Given the description of an element on the screen output the (x, y) to click on. 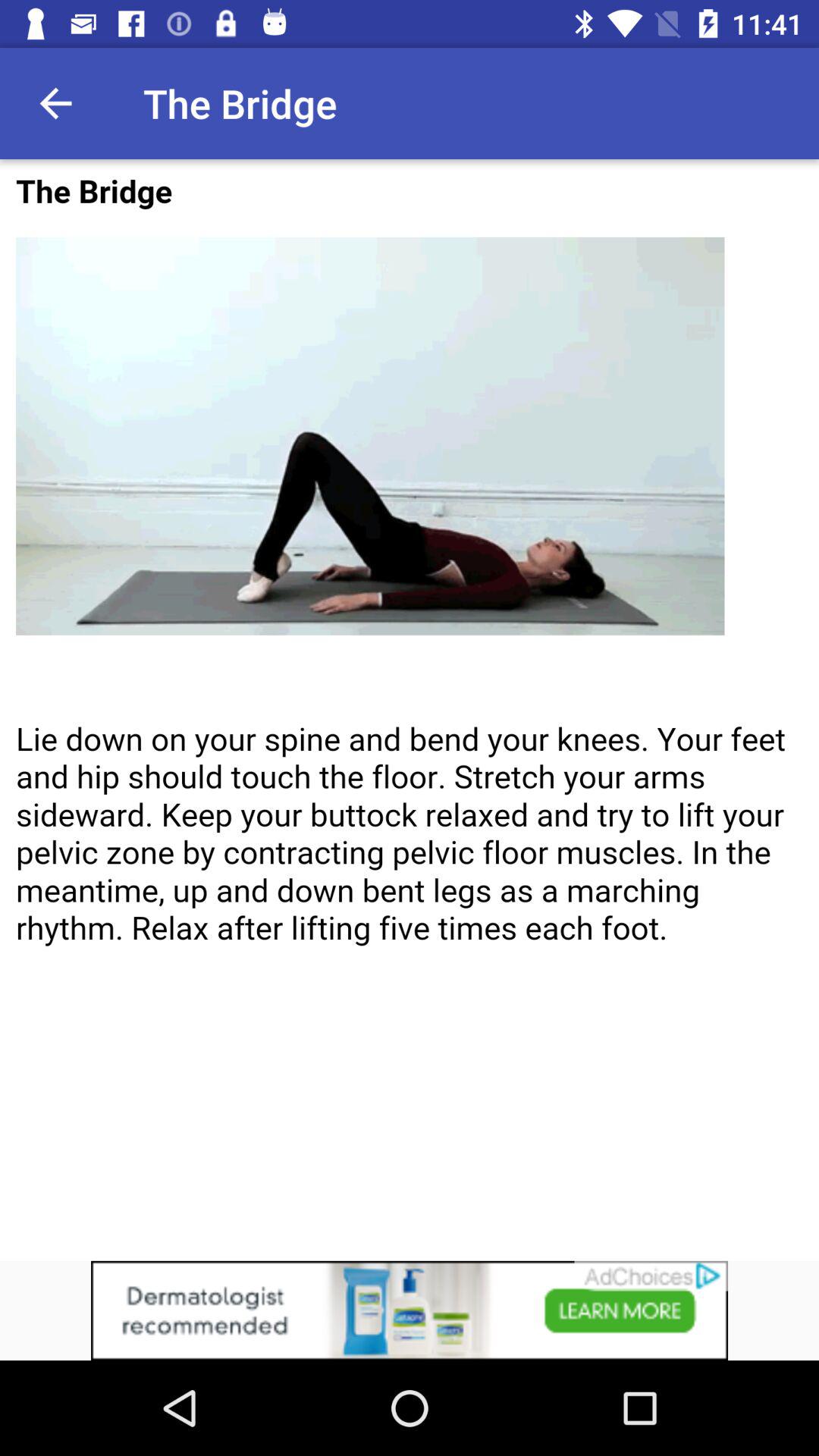
open page (409, 709)
